Given the description of an element on the screen output the (x, y) to click on. 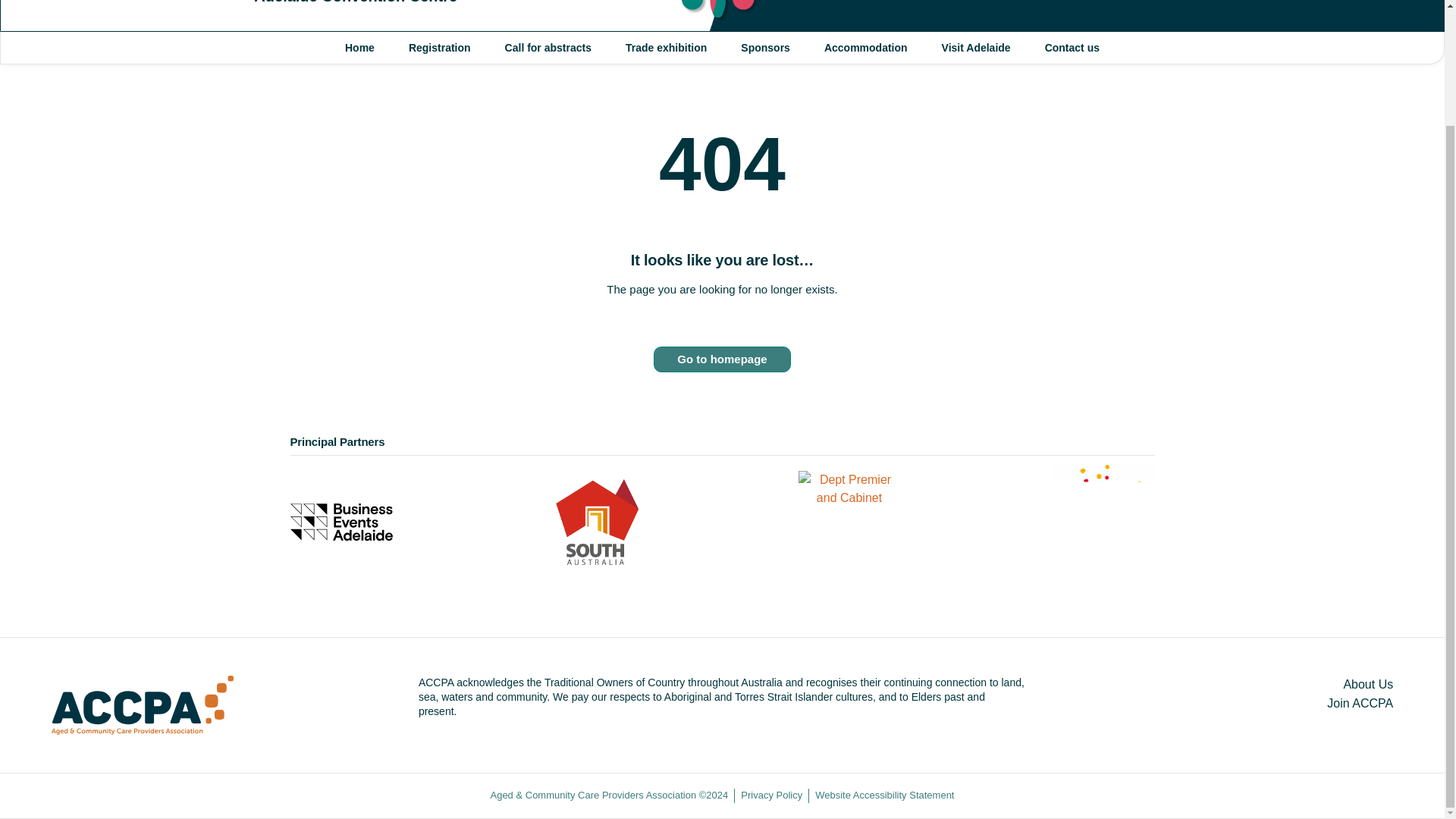
Visit Adelaide (976, 47)
Join ACCPA (1227, 702)
Registration (439, 47)
Privacy Policy (771, 795)
Trade exhibition (666, 47)
Contact us (1072, 47)
About Us (1227, 683)
Accommodation (866, 47)
Go to homepage (721, 359)
Sponsors (765, 47)
